Given the description of an element on the screen output the (x, y) to click on. 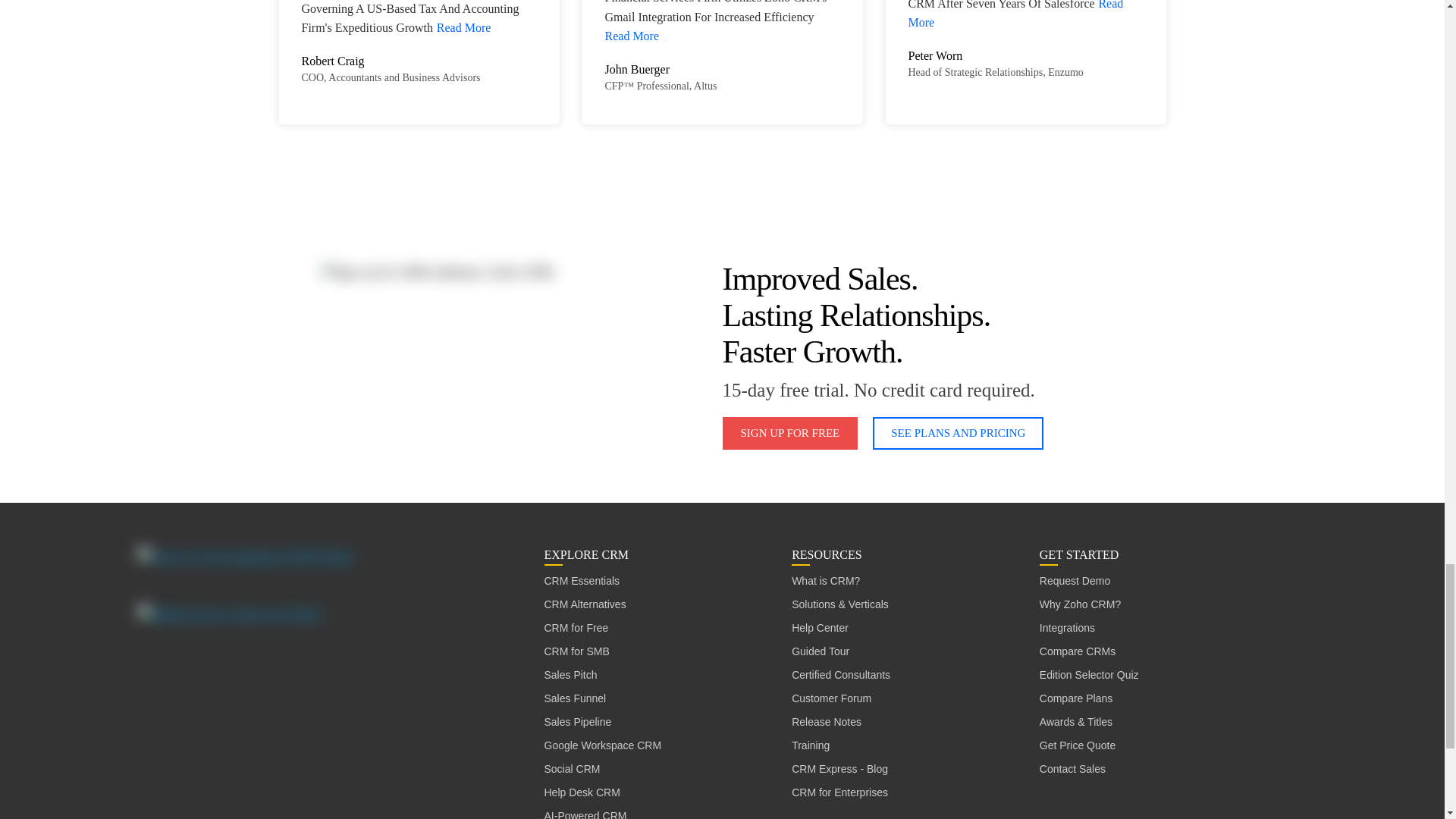
Help Desk CRM (582, 792)
CRM Alternatives (585, 604)
AI-Powered CRM (585, 811)
What is CRM? (826, 580)
CRM for SMB (577, 651)
SIGN UP FOR FREE (789, 432)
Sales Funnel (575, 698)
Sales Pipeline (577, 721)
CRM for Free (576, 627)
